Given the description of an element on the screen output the (x, y) to click on. 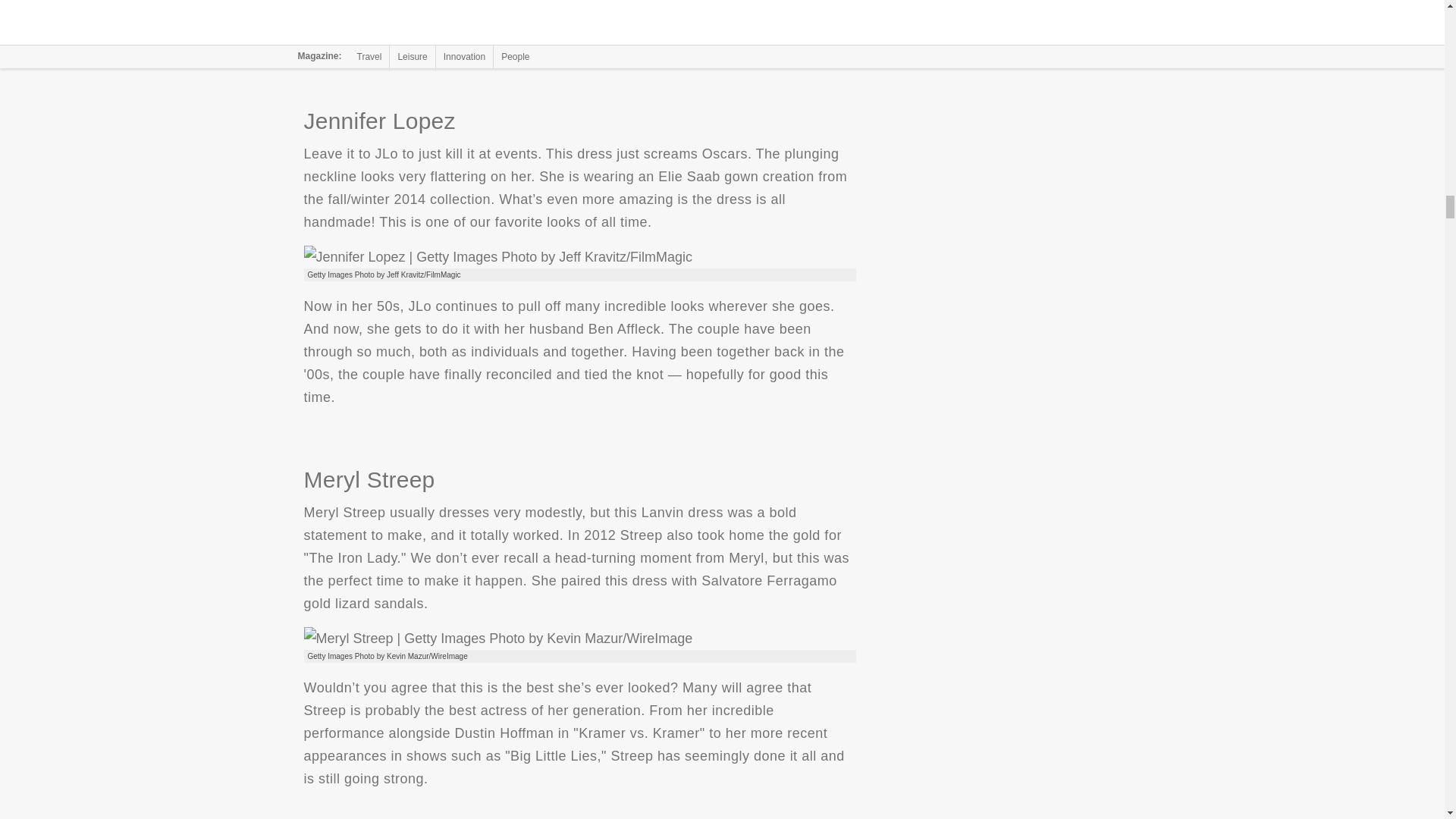
Meryl Streep (497, 638)
Jennifer Lopez (497, 256)
